Given the description of an element on the screen output the (x, y) to click on. 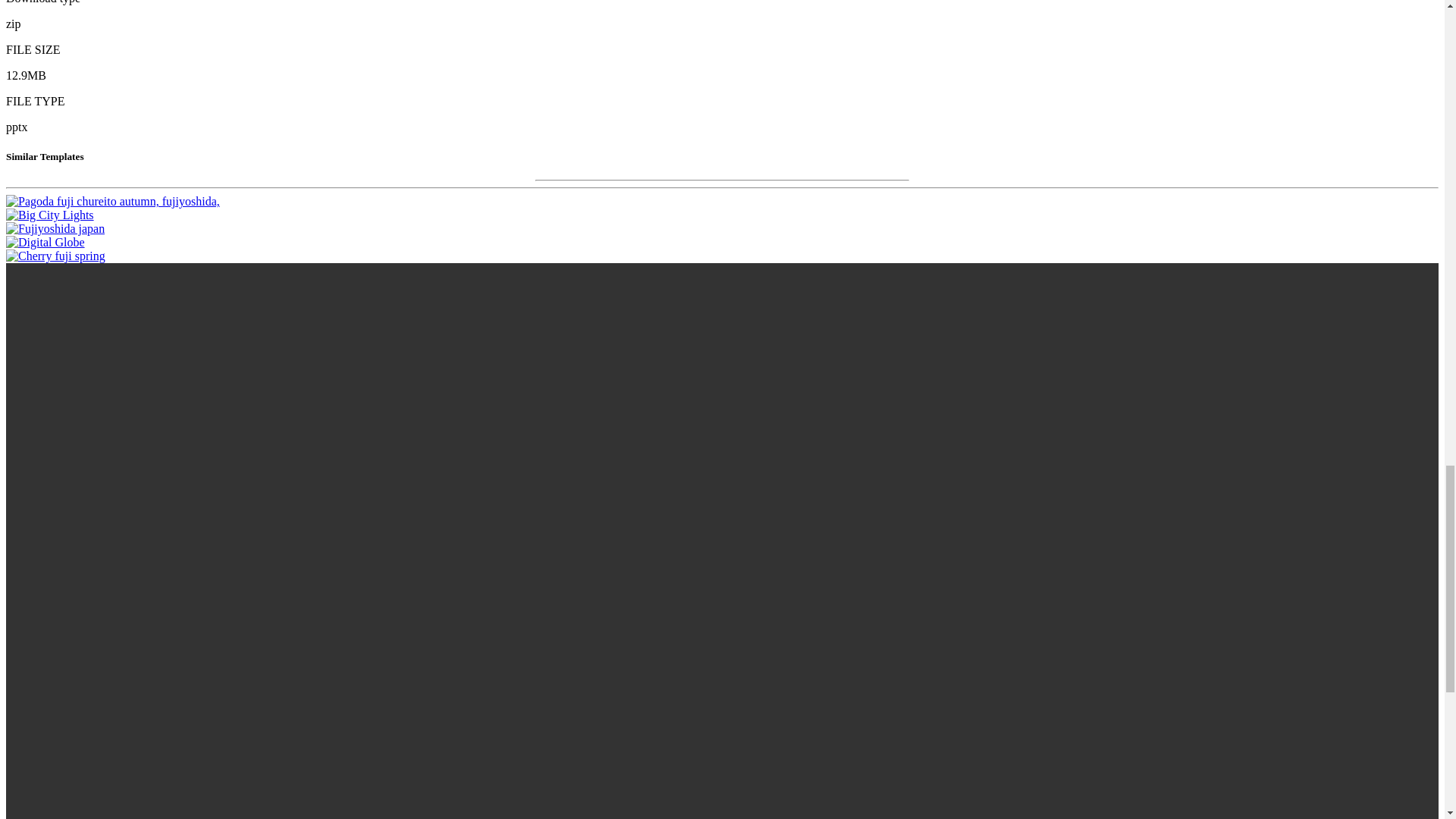
Pagoda fuji chureito autumn, fujiyoshida, (112, 201)
Digital Globe (44, 241)
Big City Lights (49, 214)
Fujiyoshida japan (54, 228)
Cherry fuji spring (54, 255)
